Given the description of an element on the screen output the (x, y) to click on. 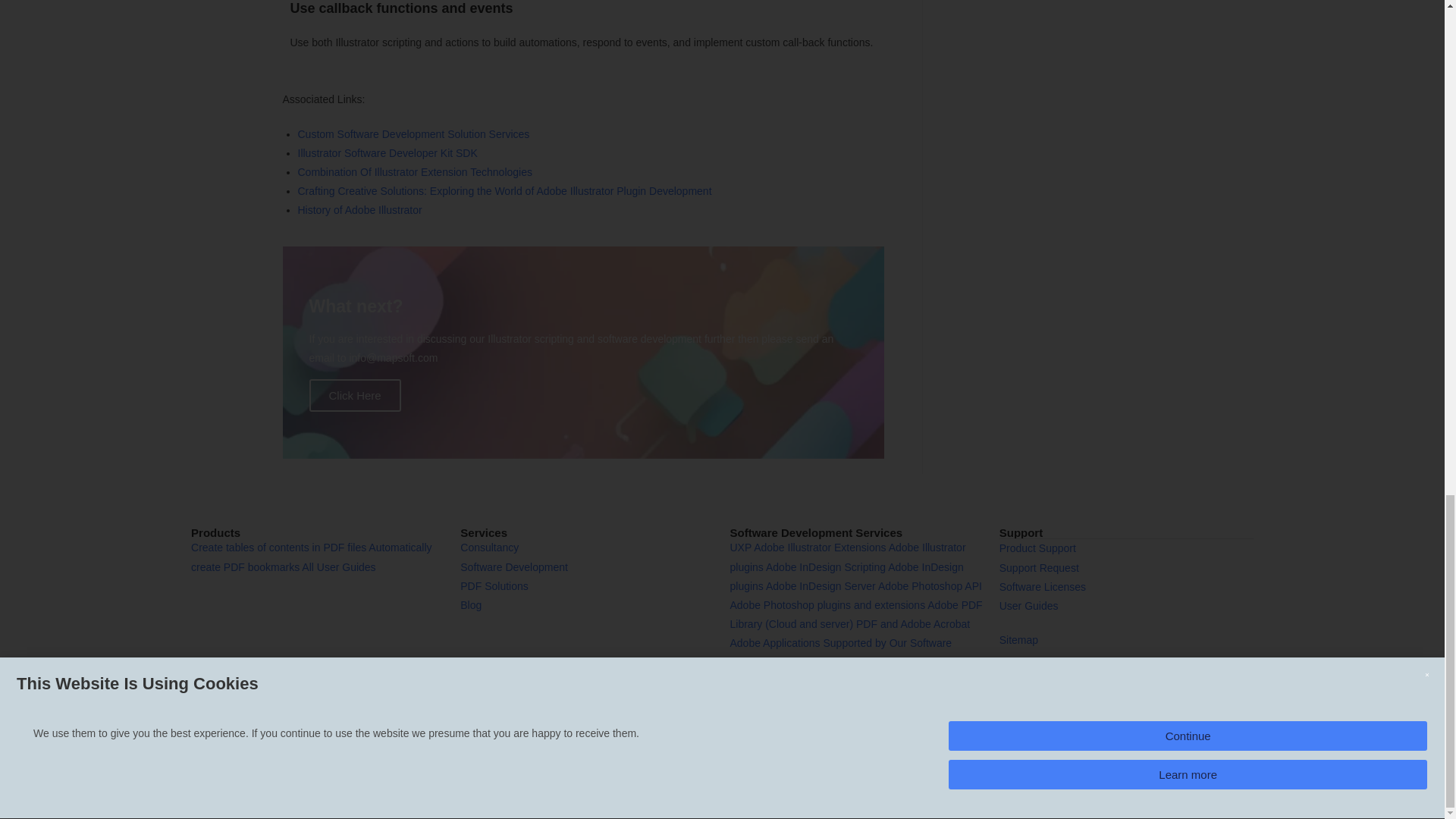
History of Adobe Illustrator (359, 209)
Custom Software Development Solution Services (413, 133)
Illustrator Software Developer Kit SDK (387, 152)
Combination Of Illustrator Extension Technologies (414, 172)
